Given the description of an element on the screen output the (x, y) to click on. 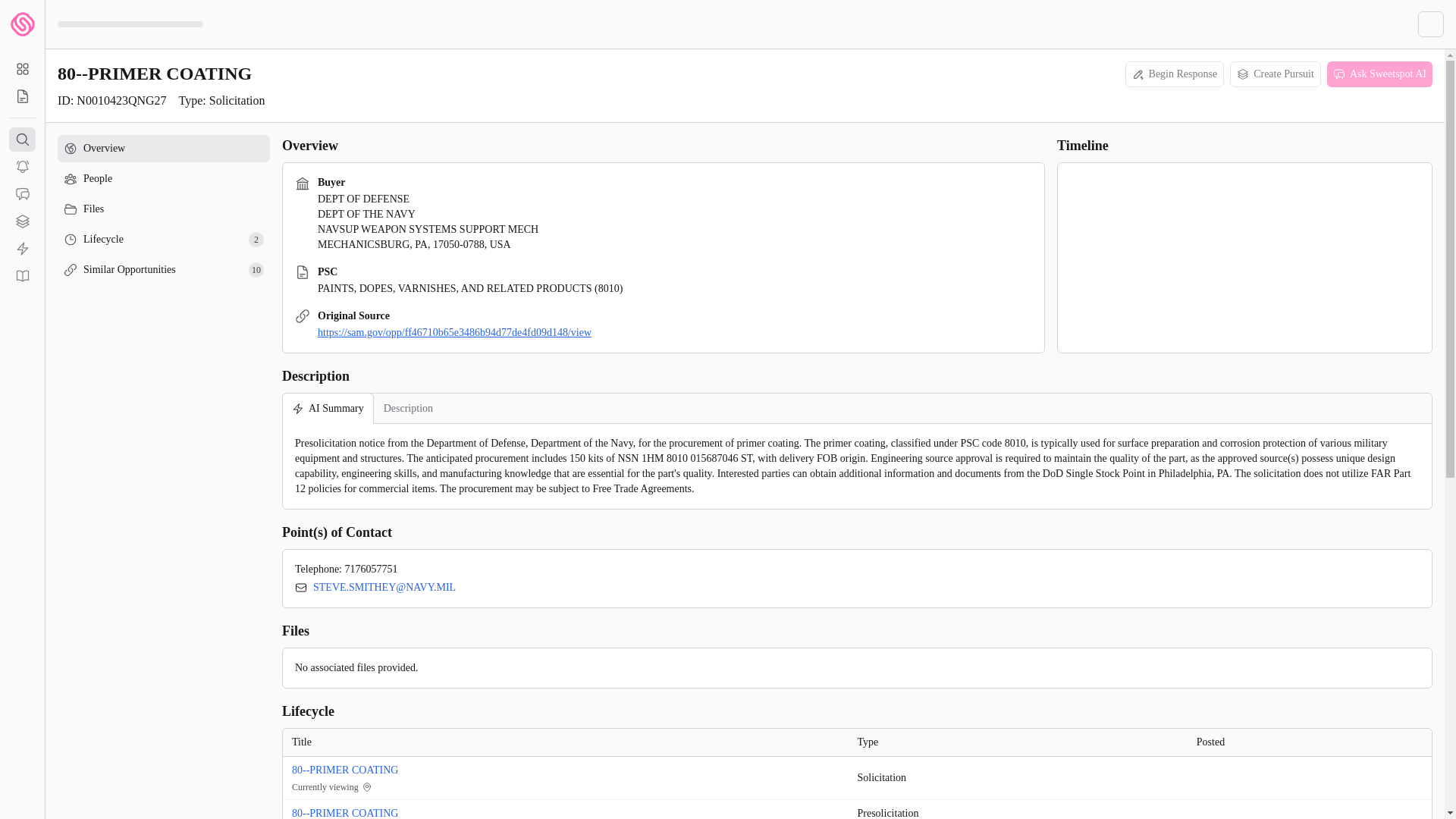
80--PRIMER COATING (349, 770)
Create Pursuit (1275, 73)
Begin Response (1174, 73)
Ask Sweetspot AI (163, 269)
People (1379, 73)
AI Summary (163, 178)
Files (328, 408)
Description (163, 239)
